Given the description of an element on the screen output the (x, y) to click on. 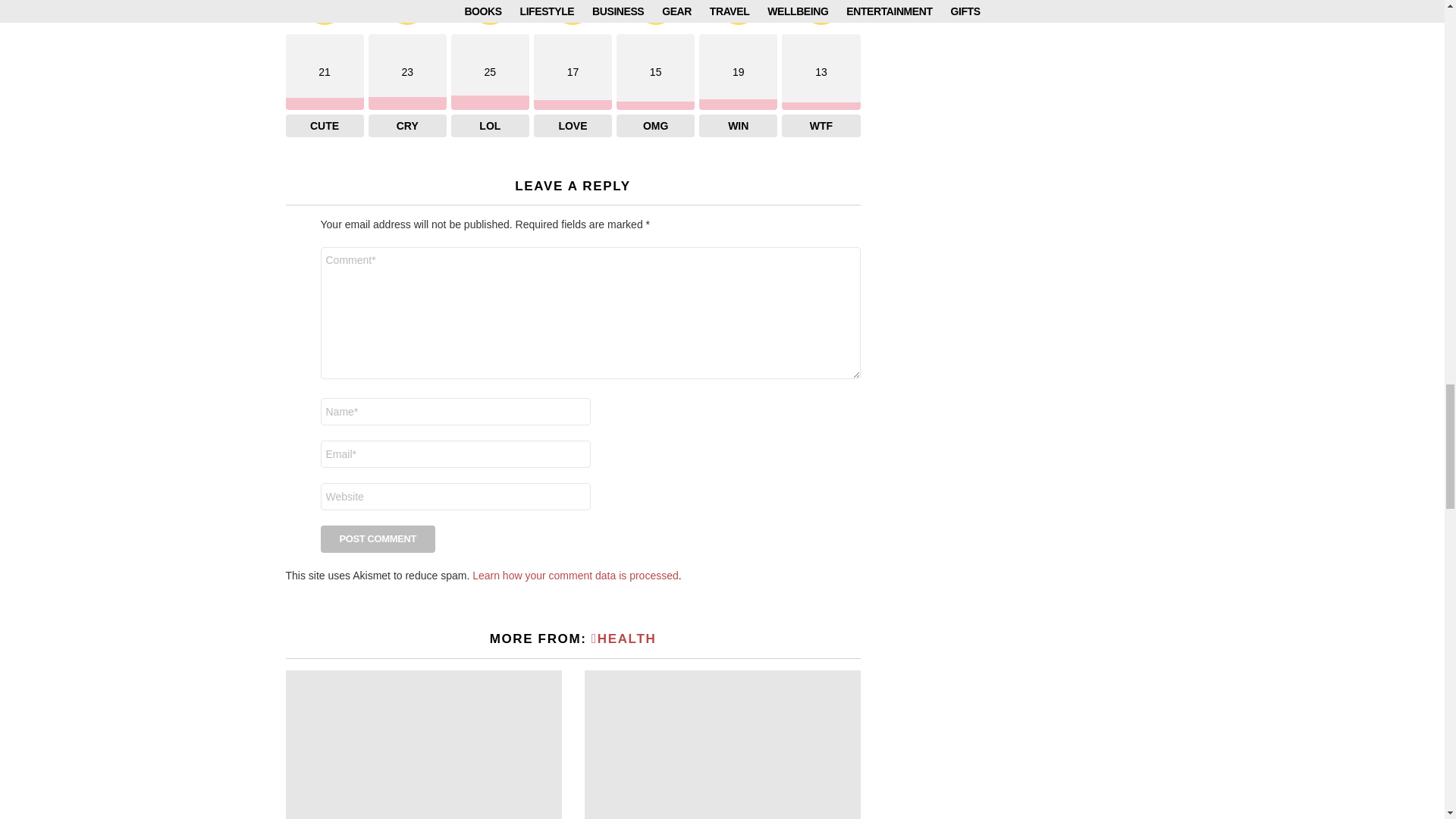
Signs You Could Use Professional Help With Your Anger (422, 744)
The Impact of Life Alert Systems on Independent Living (721, 744)
Post Comment (377, 538)
